Given the description of an element on the screen output the (x, y) to click on. 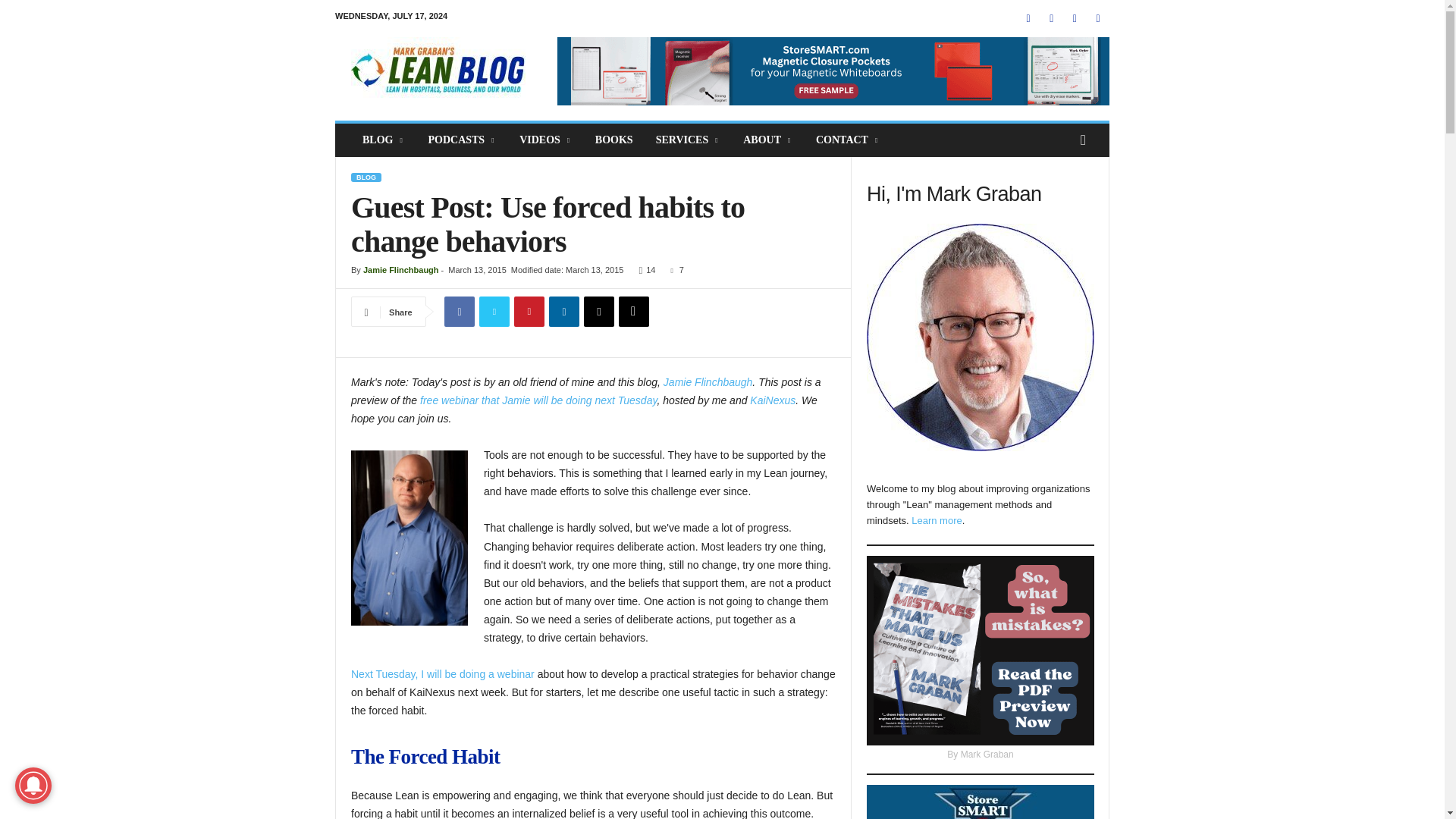
Home (437, 70)
Linkedin (563, 311)
Facebook (459, 311)
Linkedin (1074, 18)
Pinterest (528, 311)
Instagram (1051, 18)
Youtube (1097, 18)
Facebook (1027, 18)
Twitter (494, 311)
